Given the description of an element on the screen output the (x, y) to click on. 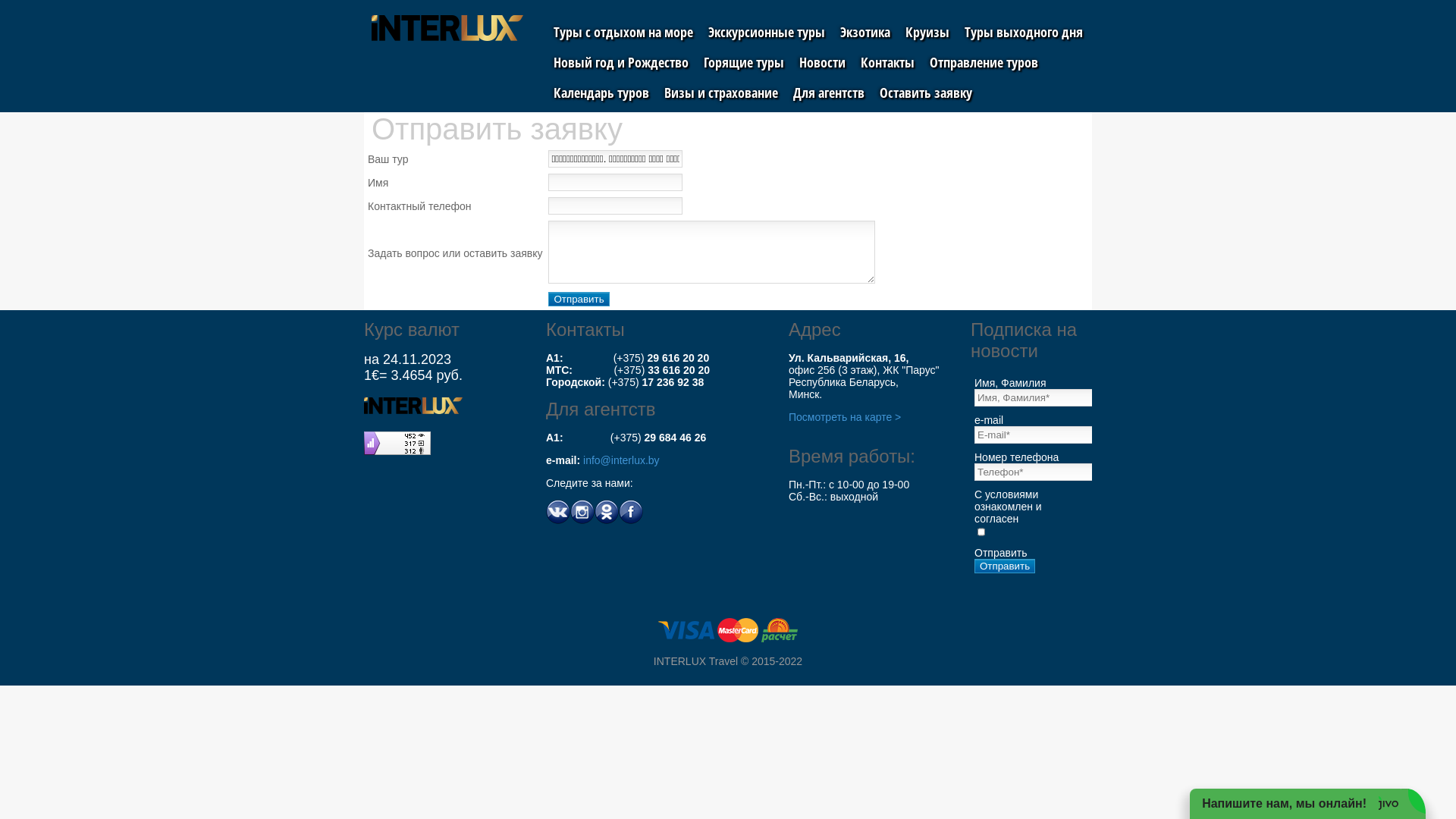
InterLux Element type: hover (413, 405)
info@interlux.by Element type: text (621, 460)
